Given the description of an element on the screen output the (x, y) to click on. 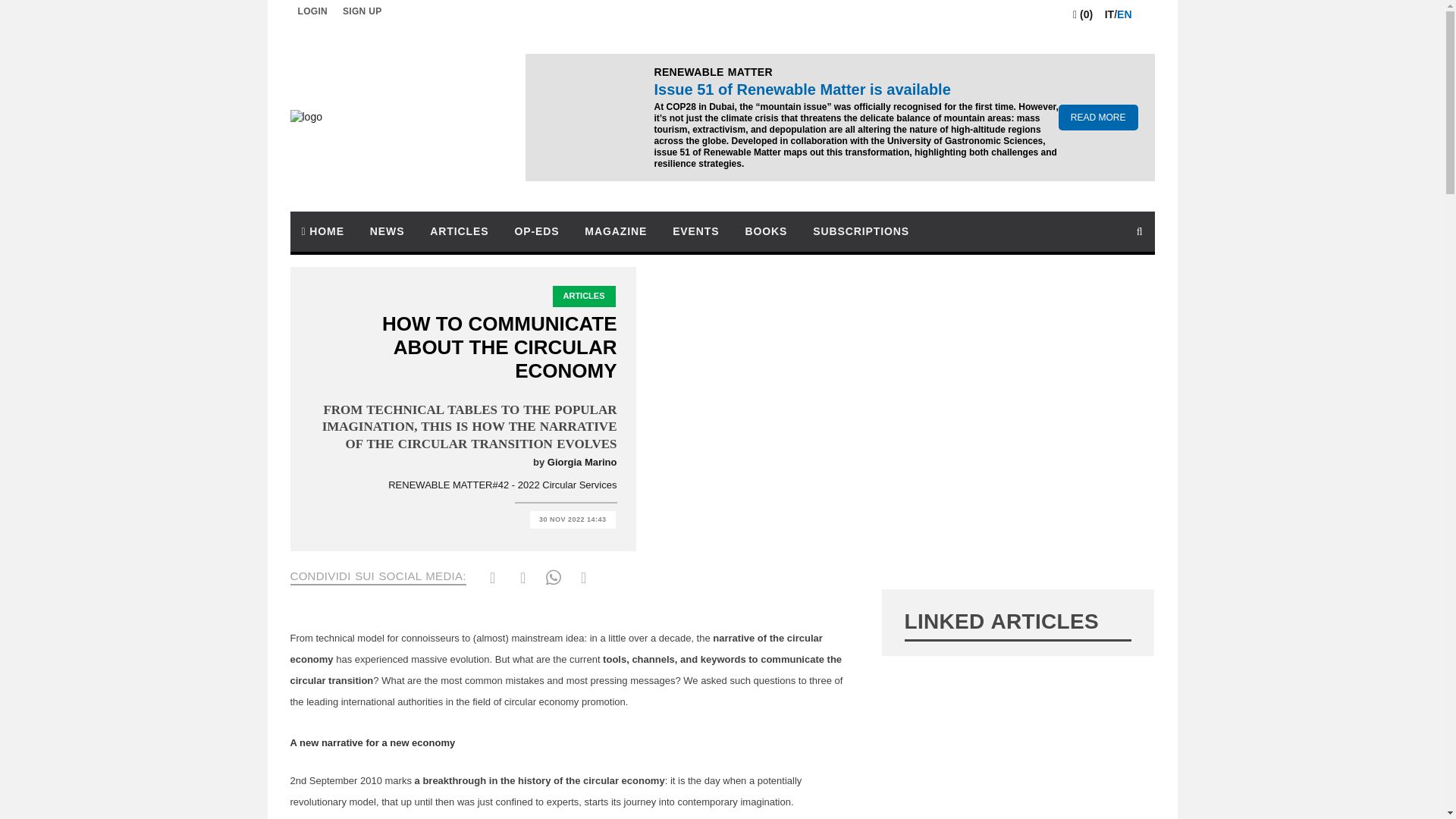
MAGAZINE (615, 231)
Editoriali (536, 231)
Magazine (615, 231)
News (387, 231)
ARTICLES (459, 231)
NEWS (387, 231)
HOME (322, 231)
Eventi (695, 231)
Libri (765, 231)
BOOKS (765, 231)
Ellen MacArthur (481, 818)
EVENTS (695, 231)
OP-EDS (536, 231)
Articoli (459, 231)
LOGIN (311, 11)
